Given the description of an element on the screen output the (x, y) to click on. 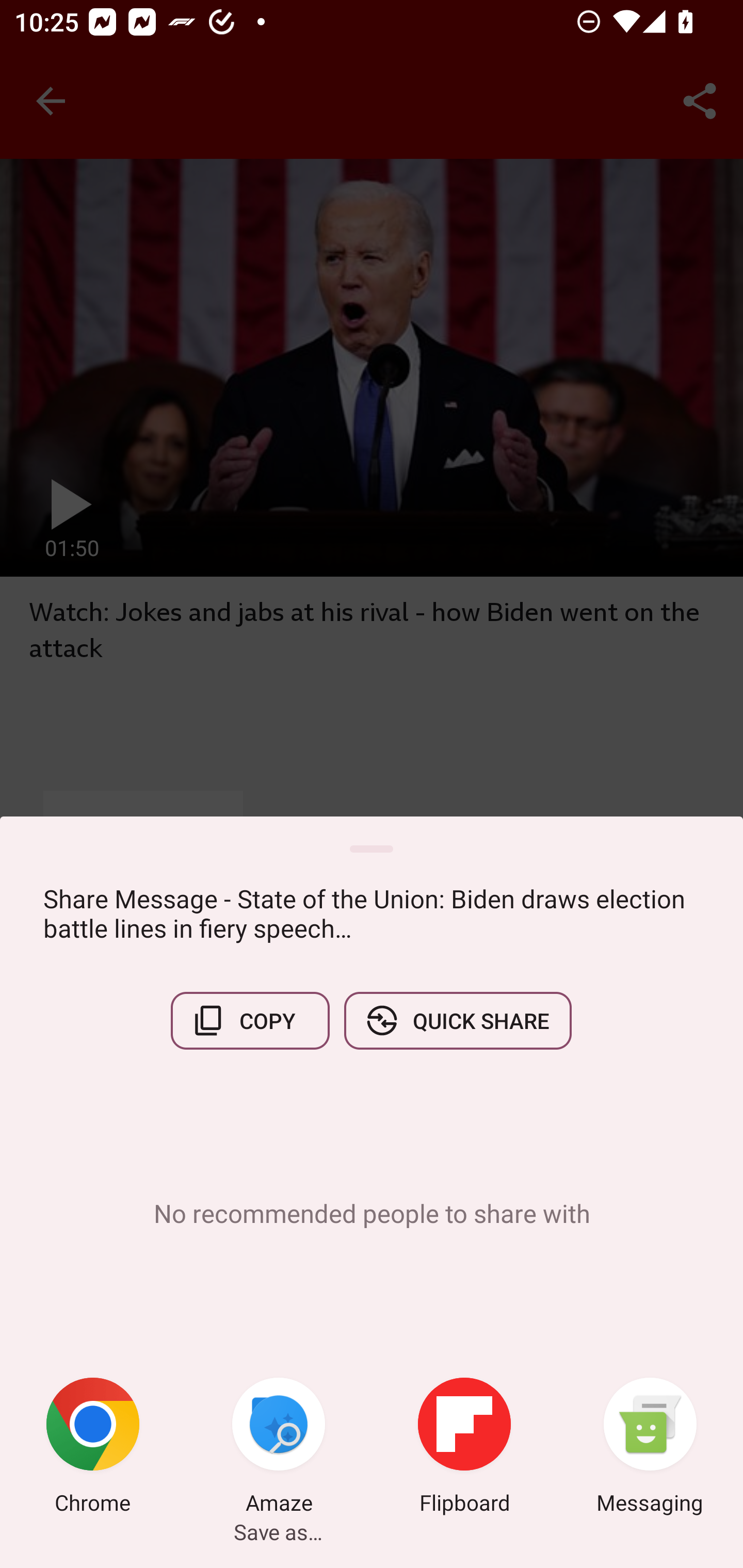
COPY (249, 1020)
QUICK SHARE (457, 1020)
Chrome (92, 1448)
Amaze Save as… (278, 1448)
Flipboard (464, 1448)
Messaging (650, 1448)
